Given the description of an element on the screen output the (x, y) to click on. 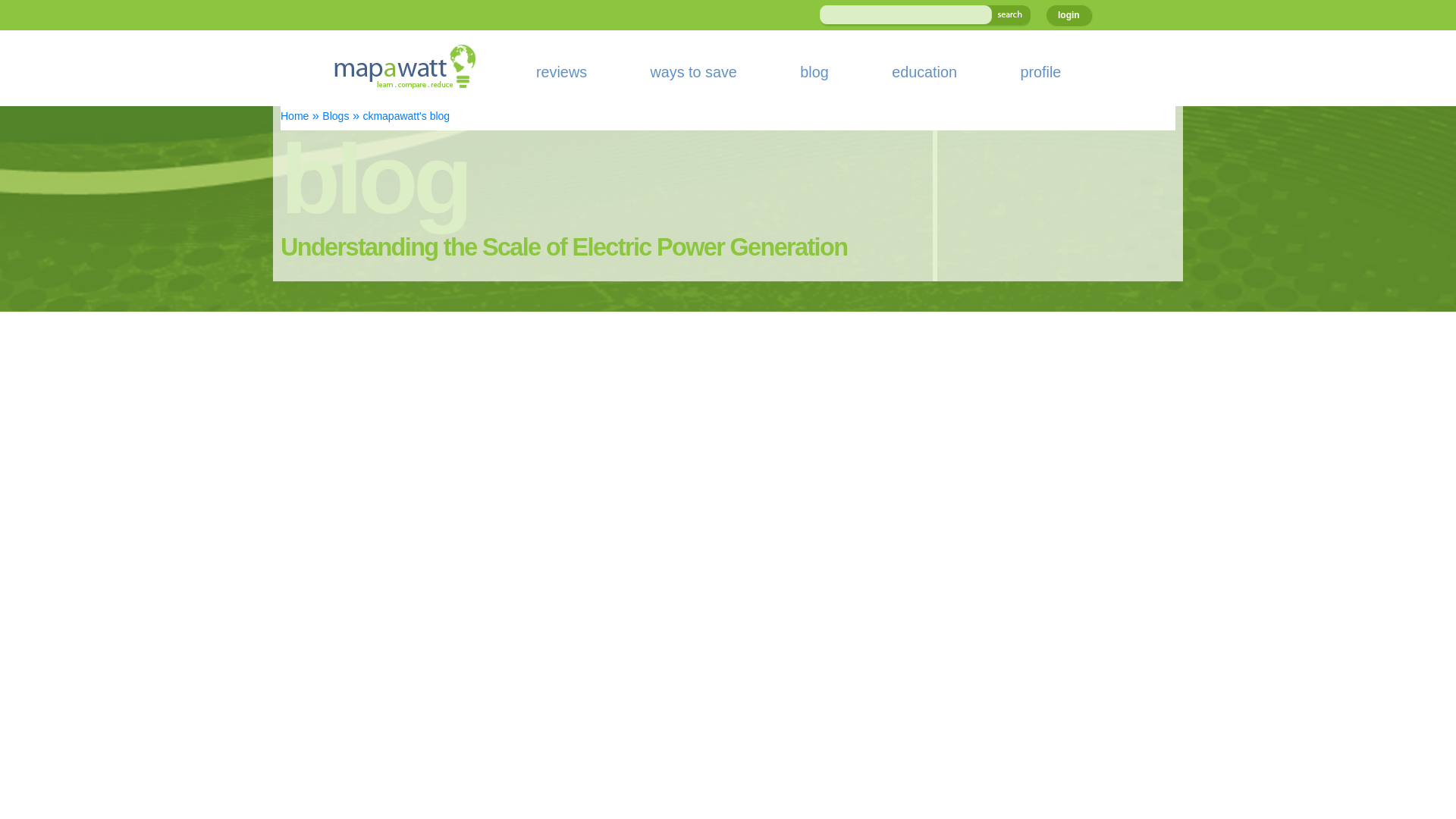
ways to save (693, 71)
education (924, 71)
Home (294, 115)
Search (1007, 15)
Enter the terms you wish to search for. (901, 15)
reviews (561, 71)
ckmapawatt's blog (405, 115)
Search (1007, 15)
profile (1040, 71)
login (1068, 14)
